Given the description of an element on the screen output the (x, y) to click on. 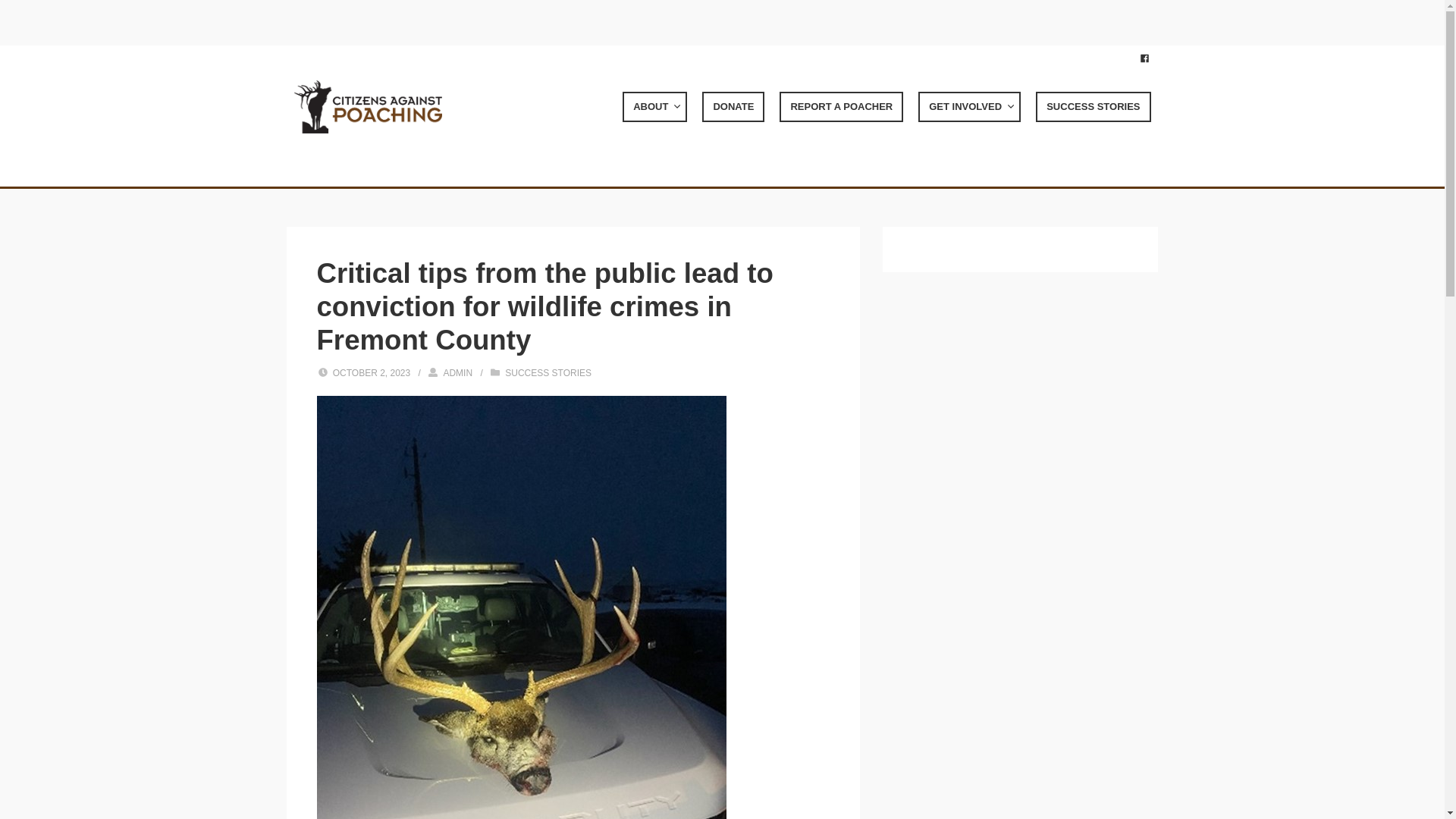
DONATE (732, 106)
SUCCESS STORIES (548, 372)
SUCCESS STORIES (1092, 106)
ABOUT (655, 106)
REPORT A POACHER (840, 106)
ADMIN (456, 372)
Idaho Citizens Against Poaching (368, 106)
View all posts by Admin (456, 372)
GET INVOLVED (969, 106)
